Given the description of an element on the screen output the (x, y) to click on. 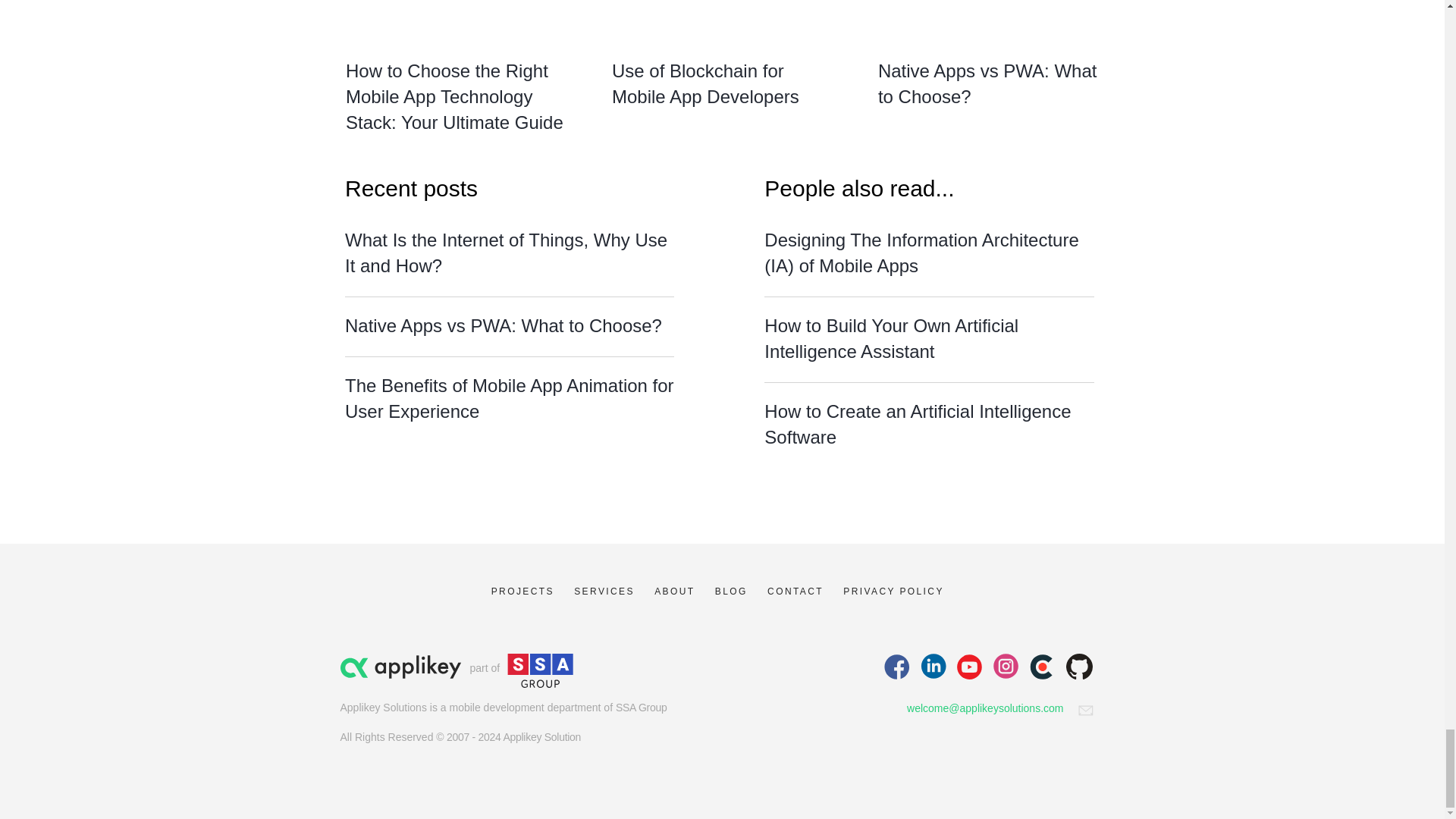
Native Apps vs PWA: What to Choose? (503, 325)
What Is the Internet of Things, Why Use It and How? (505, 253)
Native Apps vs PWA: What to Choose? (987, 83)
CONTACT (795, 591)
Use of Blockchain for Mobile App Developers (705, 83)
How to Build Your Own Artificial Intelligence Assistant (890, 338)
PRIVACY POLICY (893, 591)
PROJECTS (523, 591)
BLOG (731, 591)
